Given the description of an element on the screen output the (x, y) to click on. 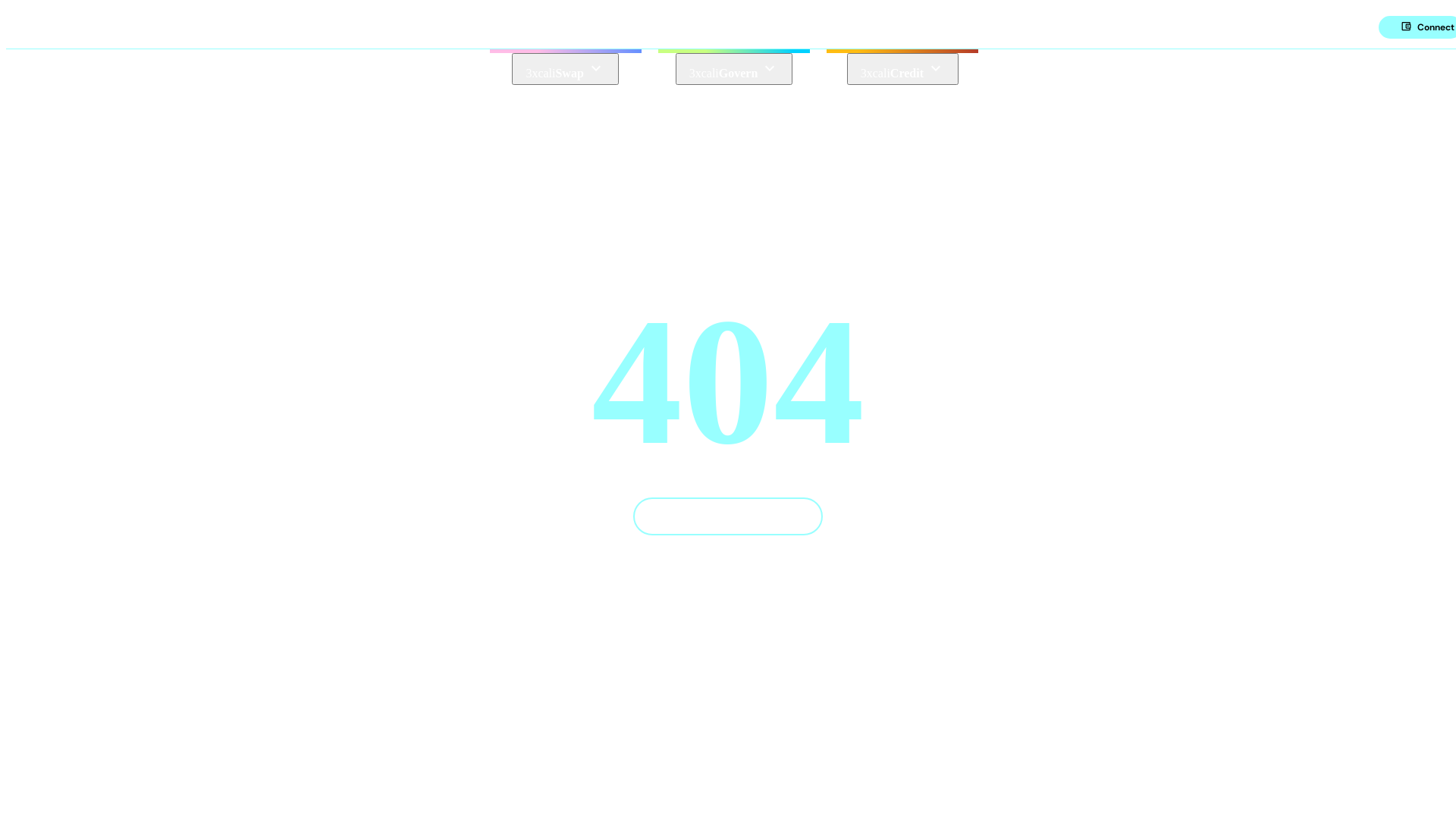
3xcaliGovern Element type: text (734, 68)
3xcaliCredit Element type: text (902, 68)
3xcaliSwap Element type: text (564, 68)
